Given the description of an element on the screen output the (x, y) to click on. 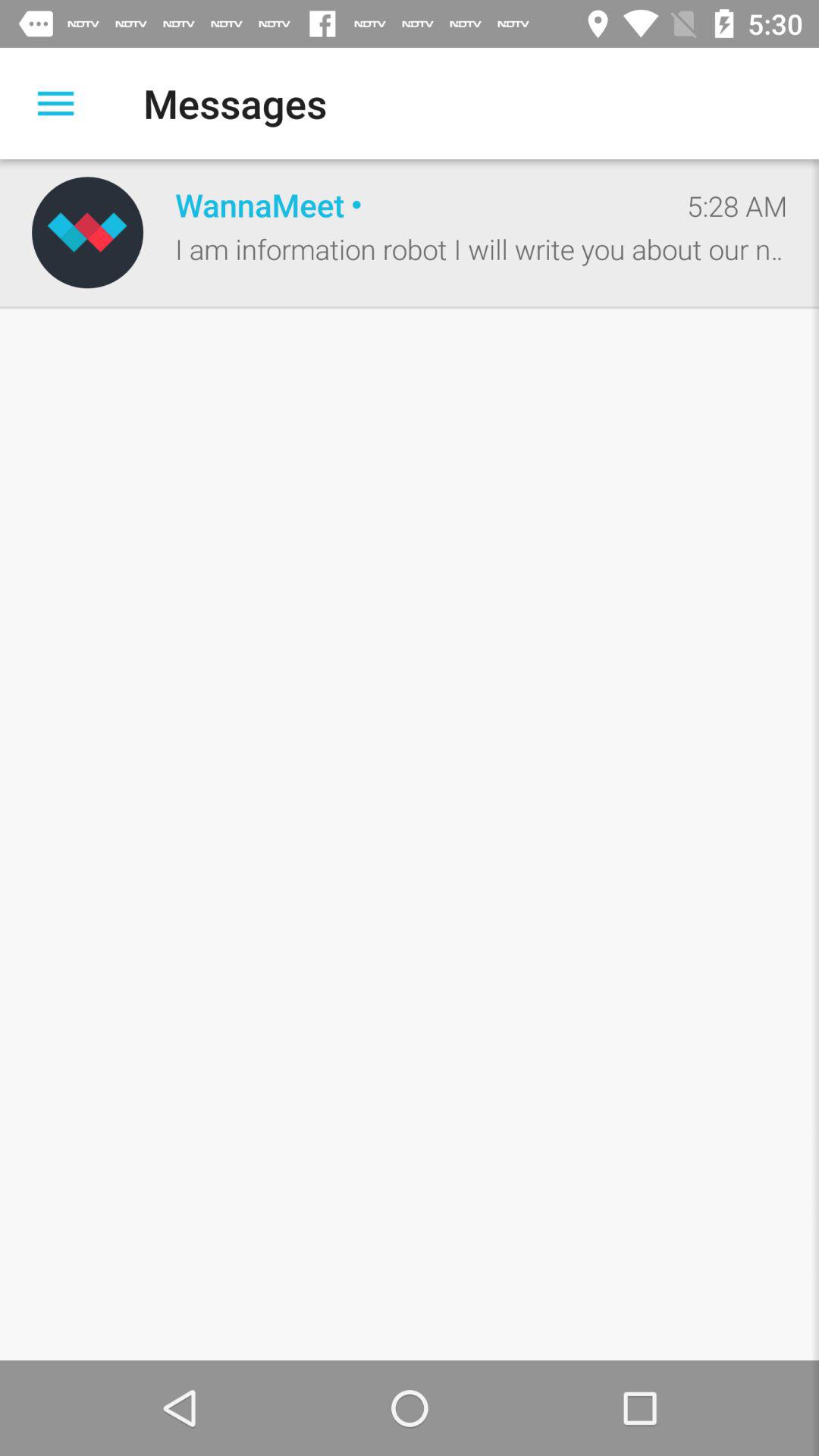
launch the icon to the right of wannameet (737, 205)
